Given the description of an element on the screen output the (x, y) to click on. 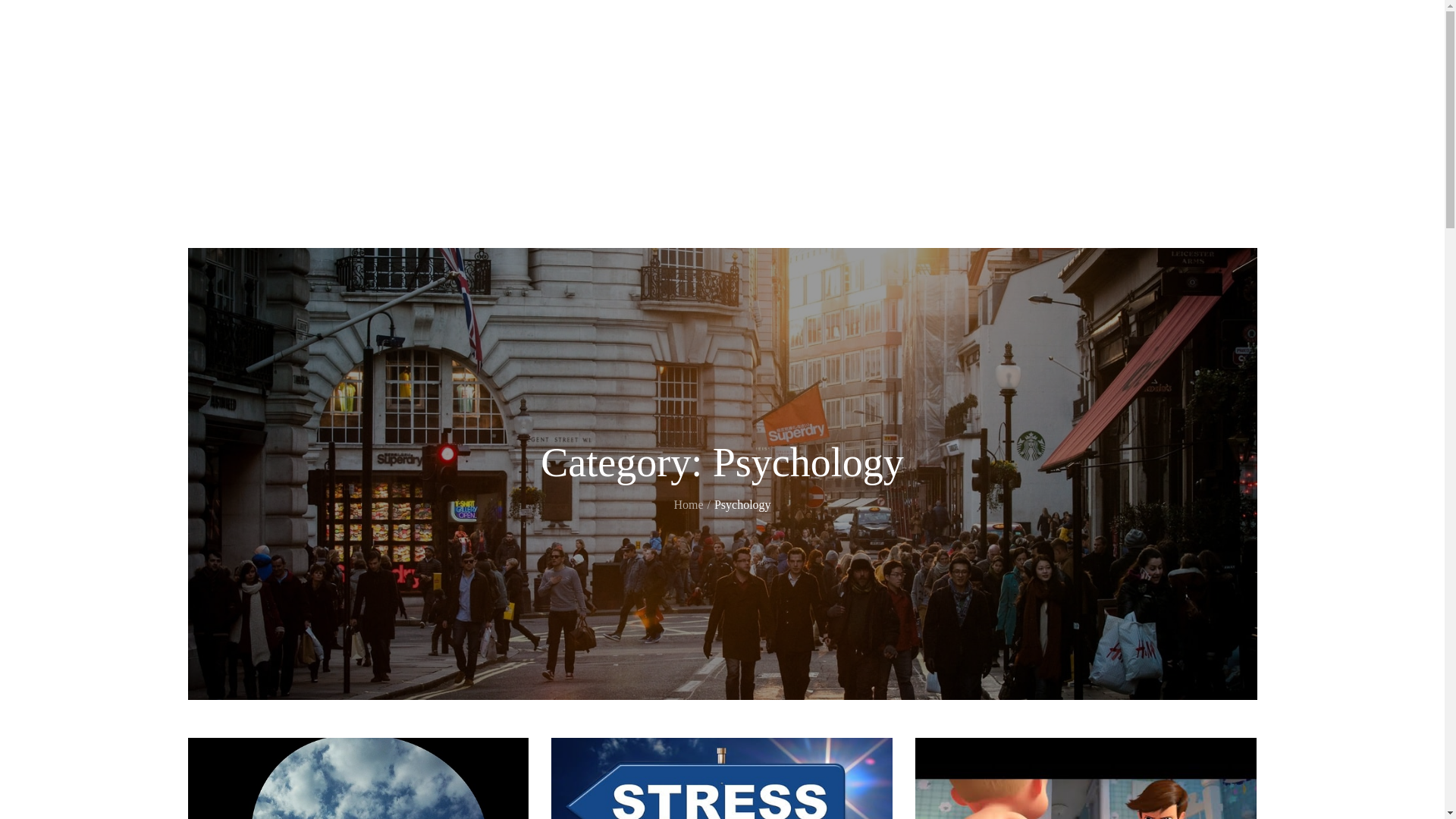
Home Element type: text (687, 504)
WHERE PSYCHOLOGYS MATTER Element type: text (304, 107)
